Given the description of an element on the screen output the (x, y) to click on. 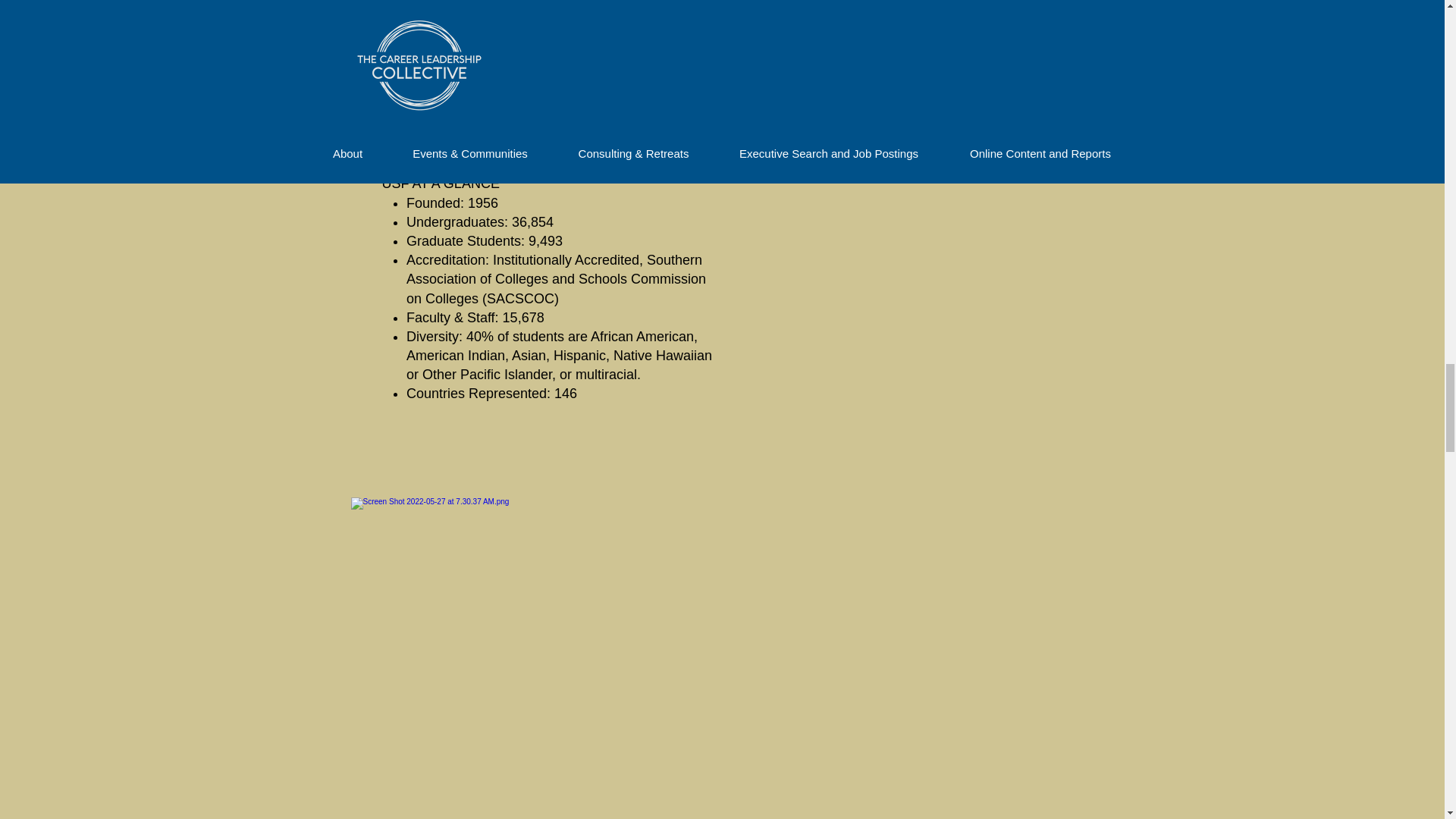
fastest-rising university (518, 49)
